Given the description of an element on the screen output the (x, y) to click on. 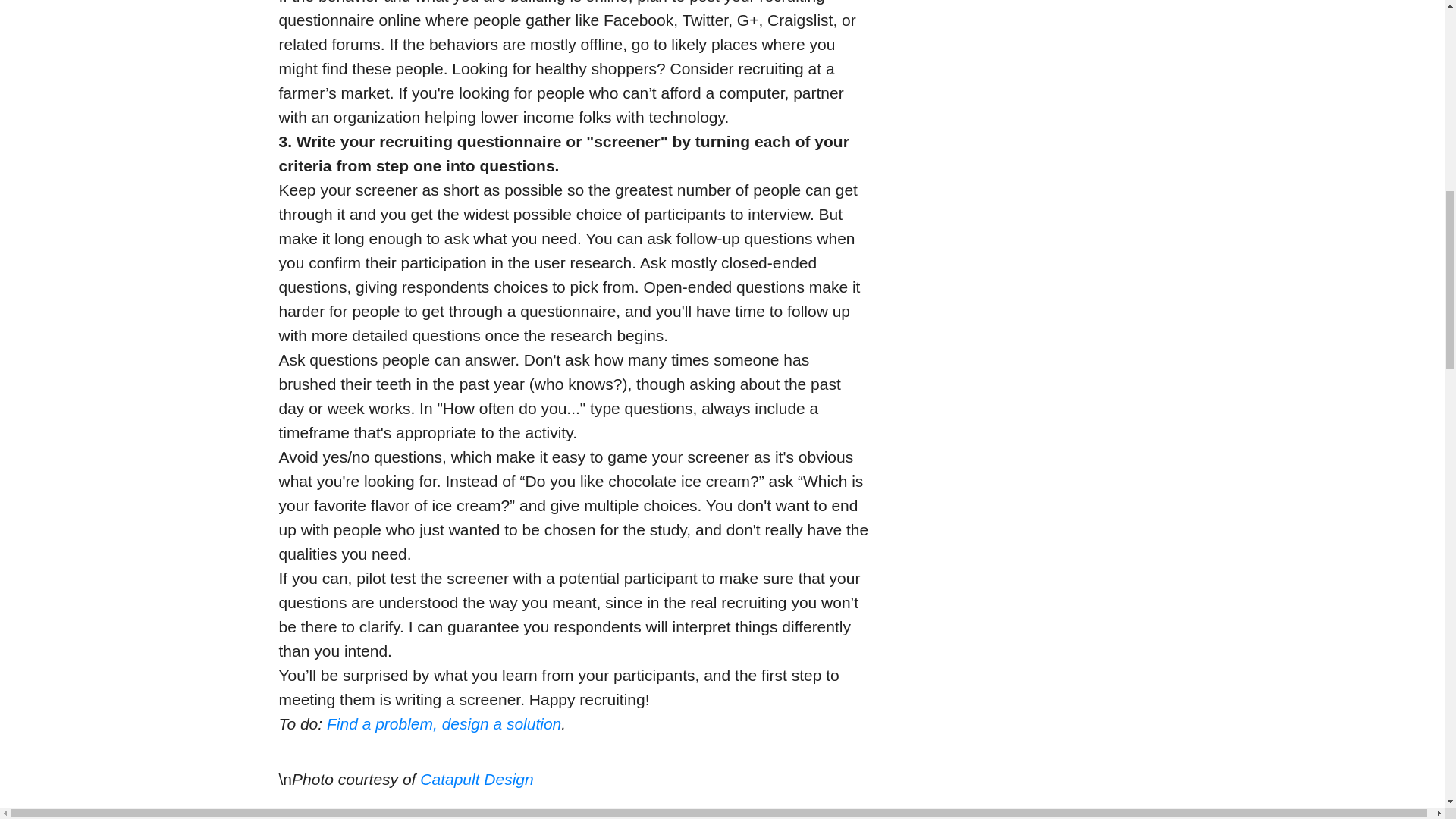
Find a problem, design a solution (443, 723)
Catapult Design (476, 778)
